Given the description of an element on the screen output the (x, y) to click on. 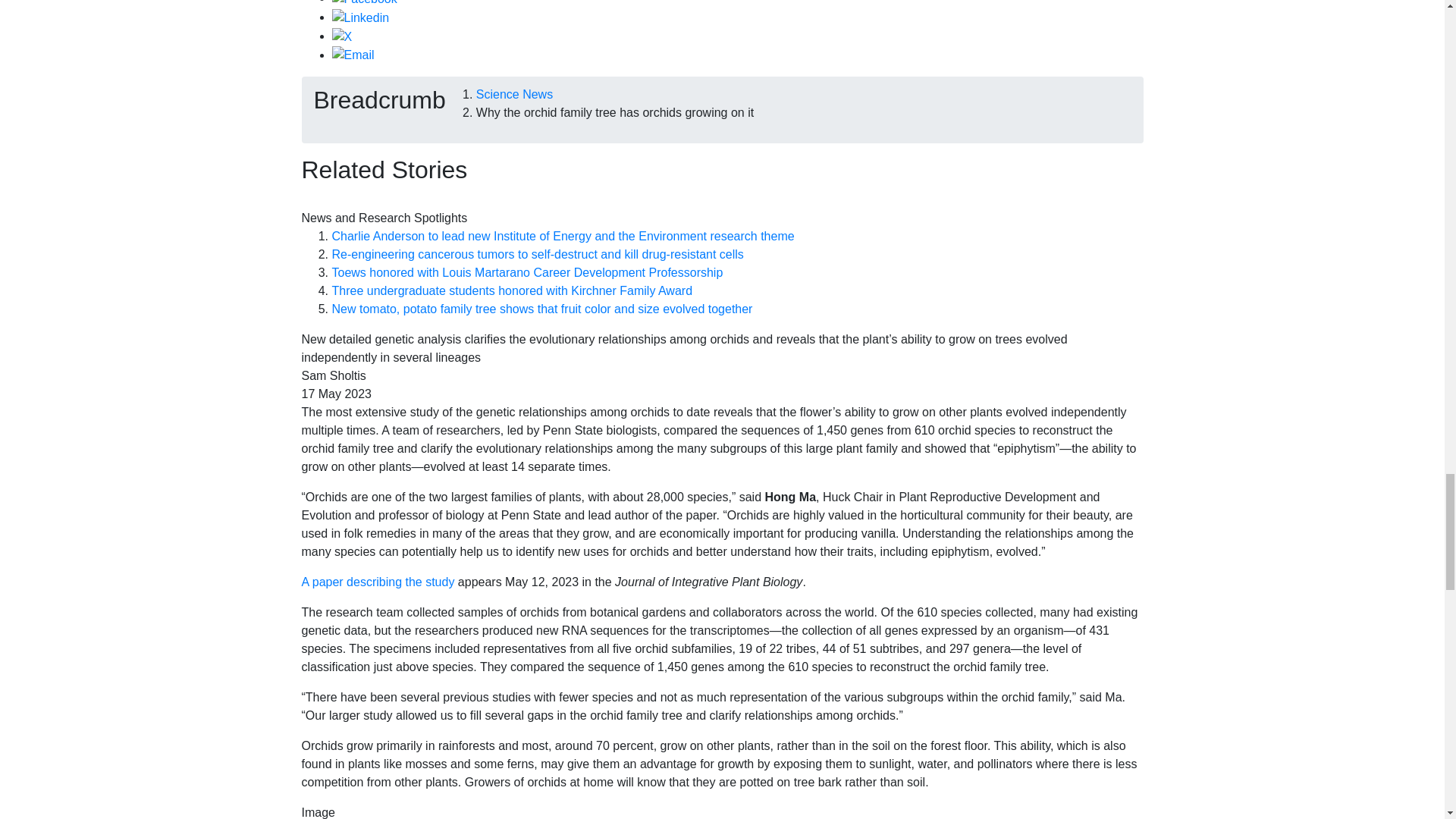
Facebook (364, 2)
Email (352, 54)
Linkedin (360, 16)
X (341, 35)
